Given the description of an element on the screen output the (x, y) to click on. 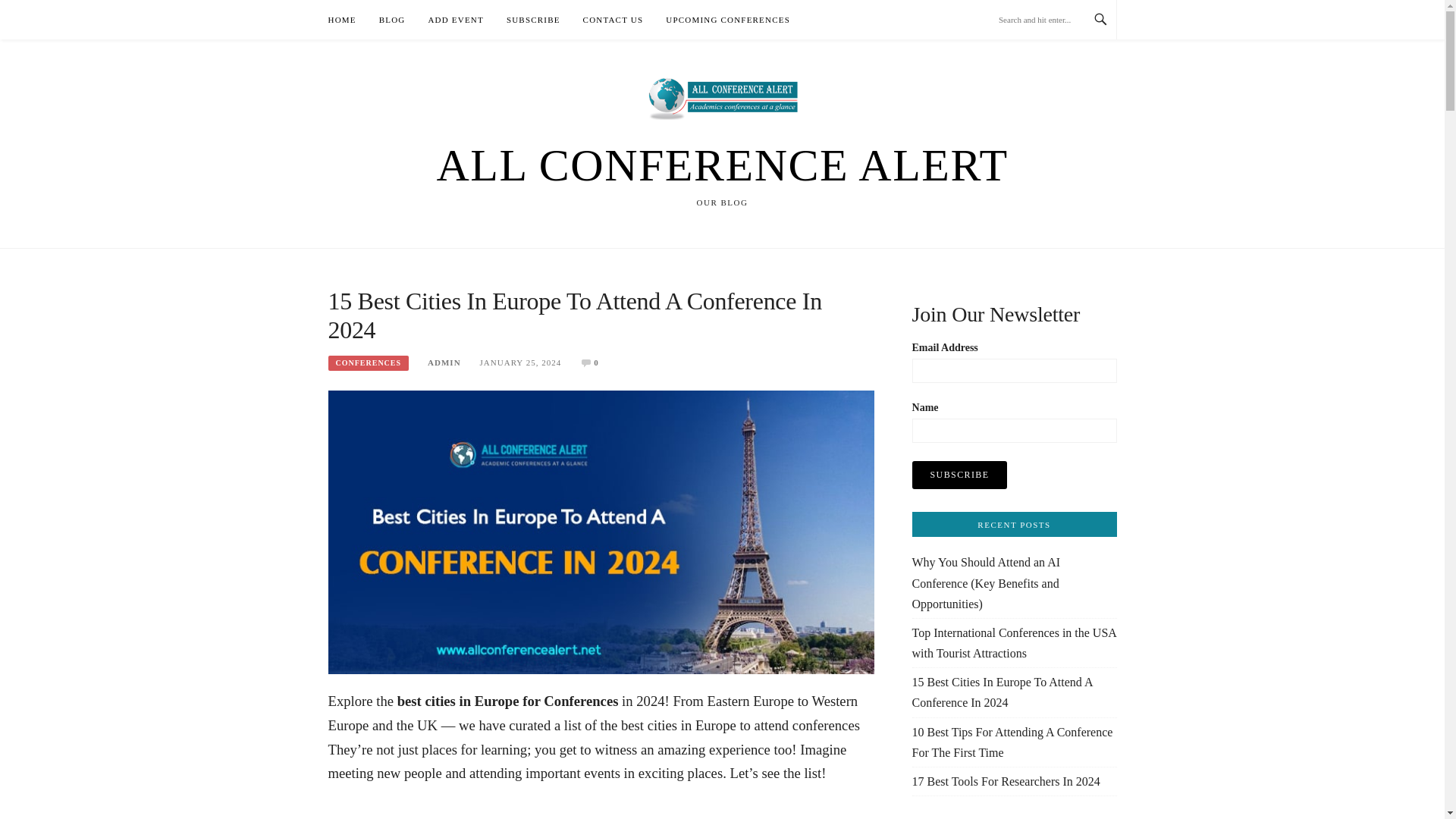
SUBSCRIBE (533, 19)
CONFERENCES (368, 363)
0 (596, 361)
HOME (341, 19)
ADMIN (444, 361)
15 Best Cities In Europe To Attend A Conference In 2024 (600, 531)
ALL CONFERENCE ALERT (721, 165)
BLOG (392, 19)
ADD EVENT (455, 19)
CONTACT US (613, 19)
UPCOMING CONFERENCES (727, 19)
